Given the description of an element on the screen output the (x, y) to click on. 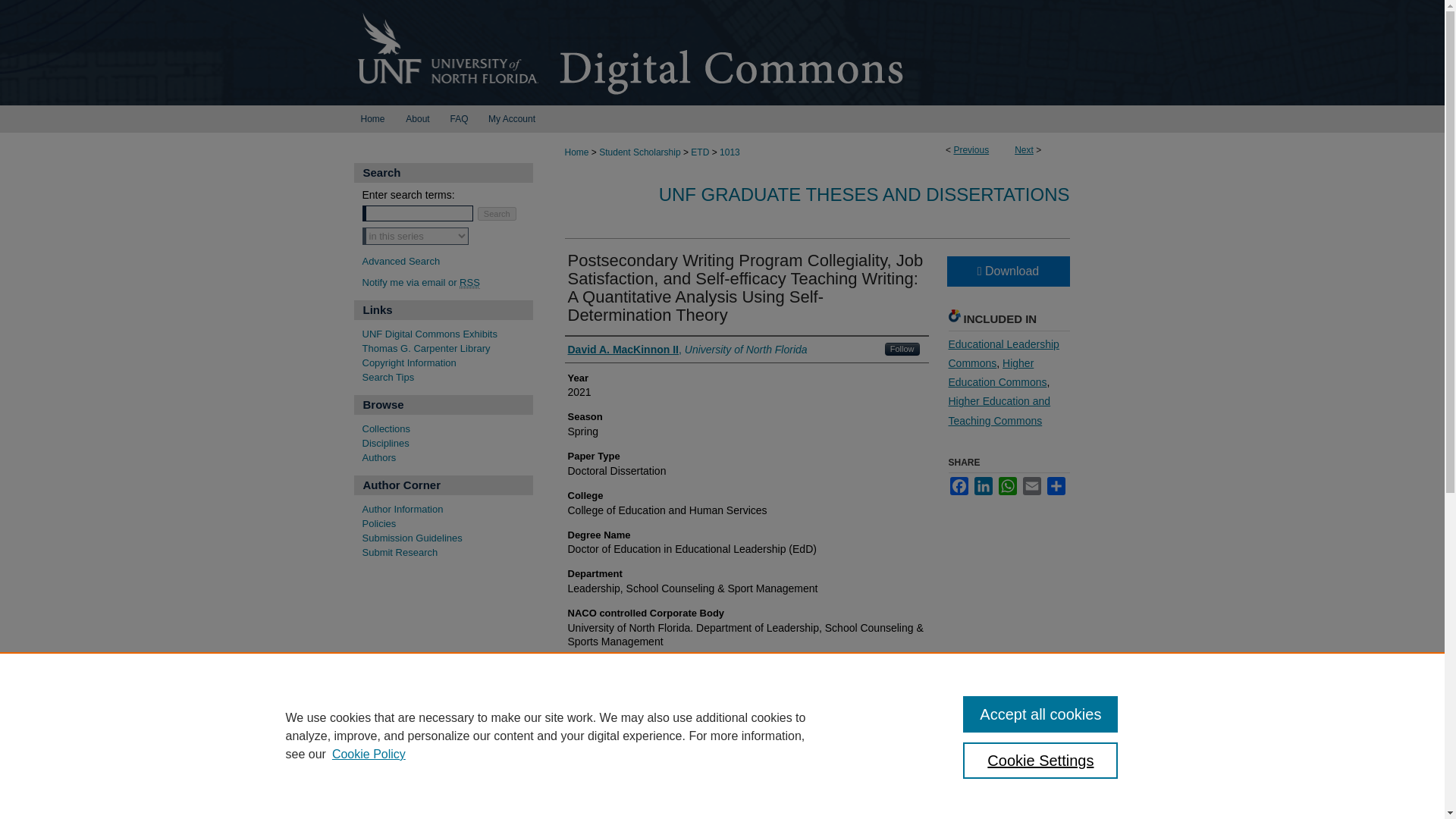
Educational Leadership Commons (1002, 353)
Follow David A. MacKinnon II (902, 349)
David A. MacKinnon II, University of North Florida (686, 349)
Search (496, 213)
Follow (902, 349)
Student Scholarship (638, 152)
FAQ (458, 118)
About (418, 118)
Higher Education and Teaching Commons (998, 409)
UNF Digital Commons Exhibits (447, 334)
Email or RSS Notifications (447, 282)
Search (496, 213)
WhatsApp (1006, 485)
Thomas G. Carpenter Library (447, 349)
